Given the description of an element on the screen output the (x, y) to click on. 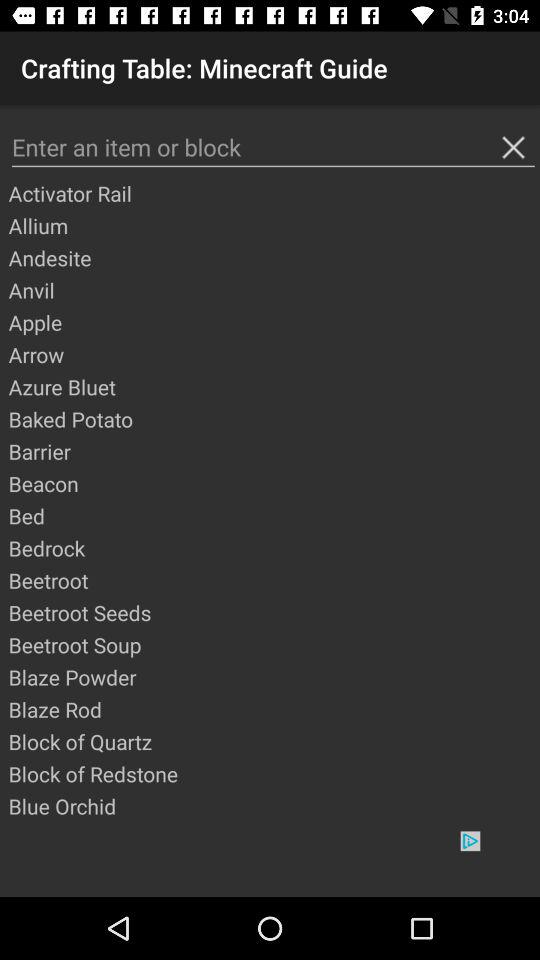
select activator rail app (273, 193)
